Given the description of an element on the screen output the (x, y) to click on. 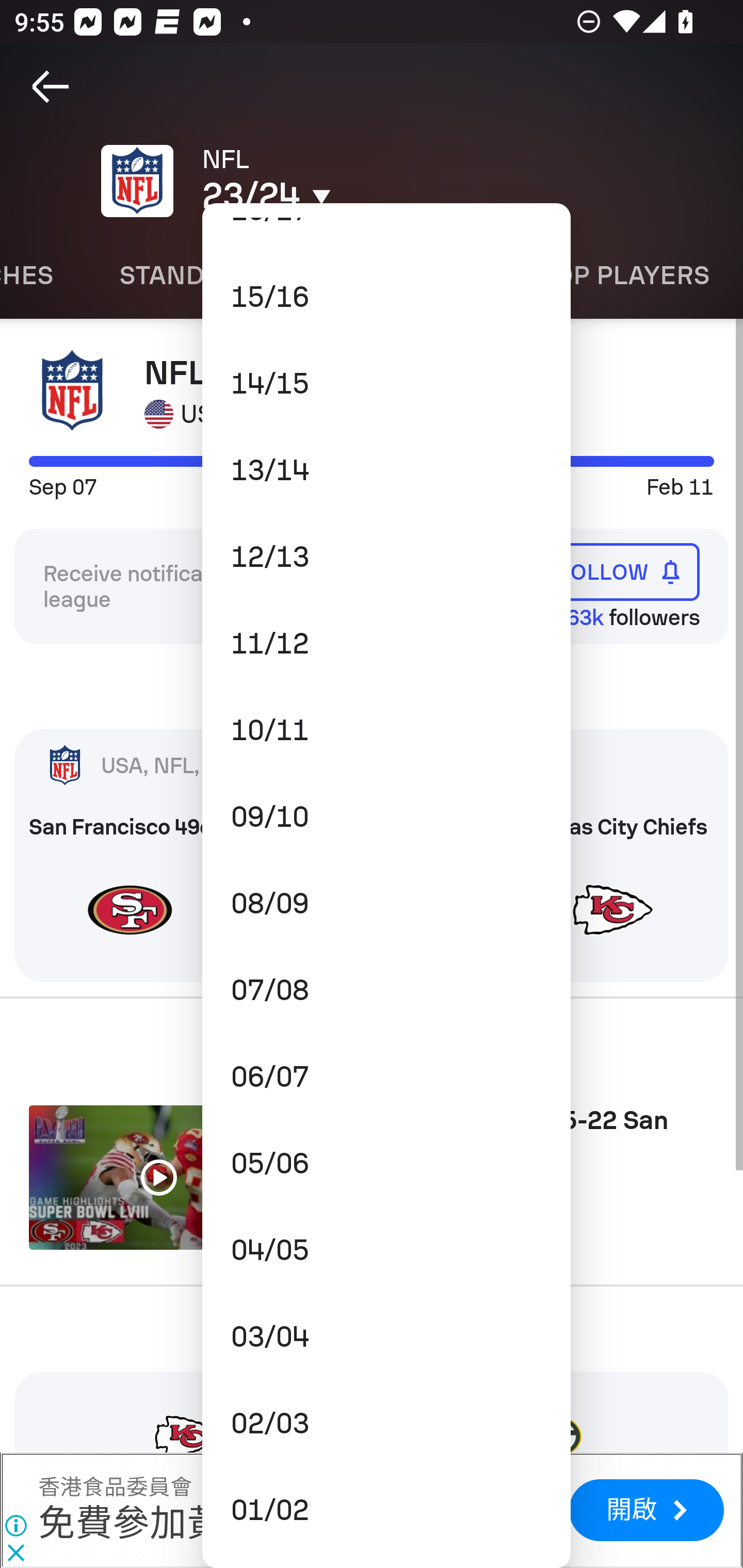
15/16 (386, 297)
14/15 (386, 383)
13/14 (386, 470)
12/13 (386, 557)
11/12 (386, 643)
10/11 (386, 729)
09/10 (386, 816)
08/09 (386, 903)
07/08 (386, 990)
06/07 (386, 1076)
05/06 (386, 1163)
04/05 (386, 1250)
03/04 (386, 1336)
02/03 (386, 1423)
01/02 (386, 1510)
